Given the description of an element on the screen output the (x, y) to click on. 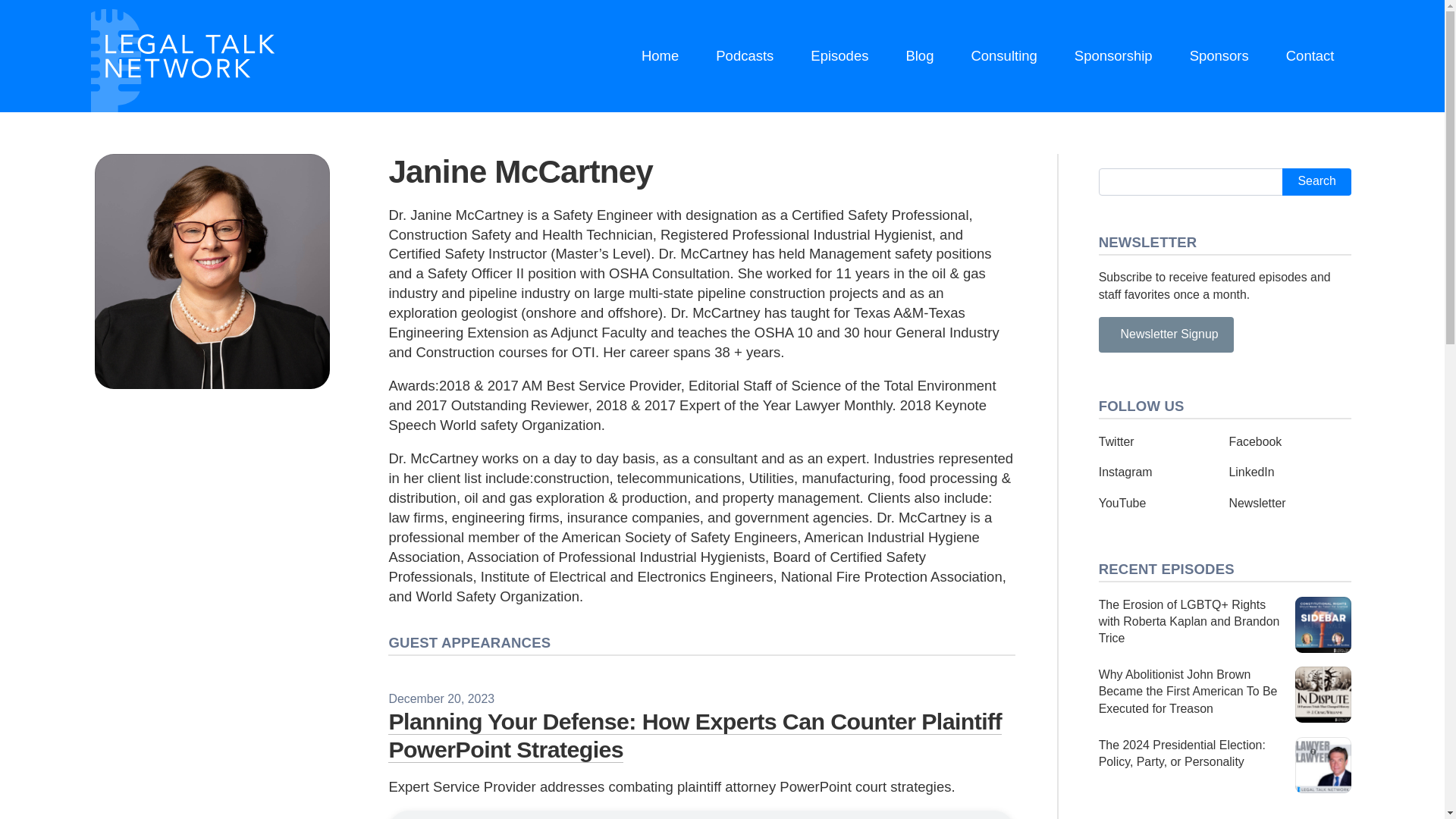
Newsletter (1256, 502)
Sponsorship (1113, 56)
Consulting (1003, 56)
YouTube (1123, 502)
Search (1316, 181)
Search (1316, 181)
  Newsletter Signup (1166, 334)
LinkedIn (1251, 472)
